Given the description of an element on the screen output the (x, y) to click on. 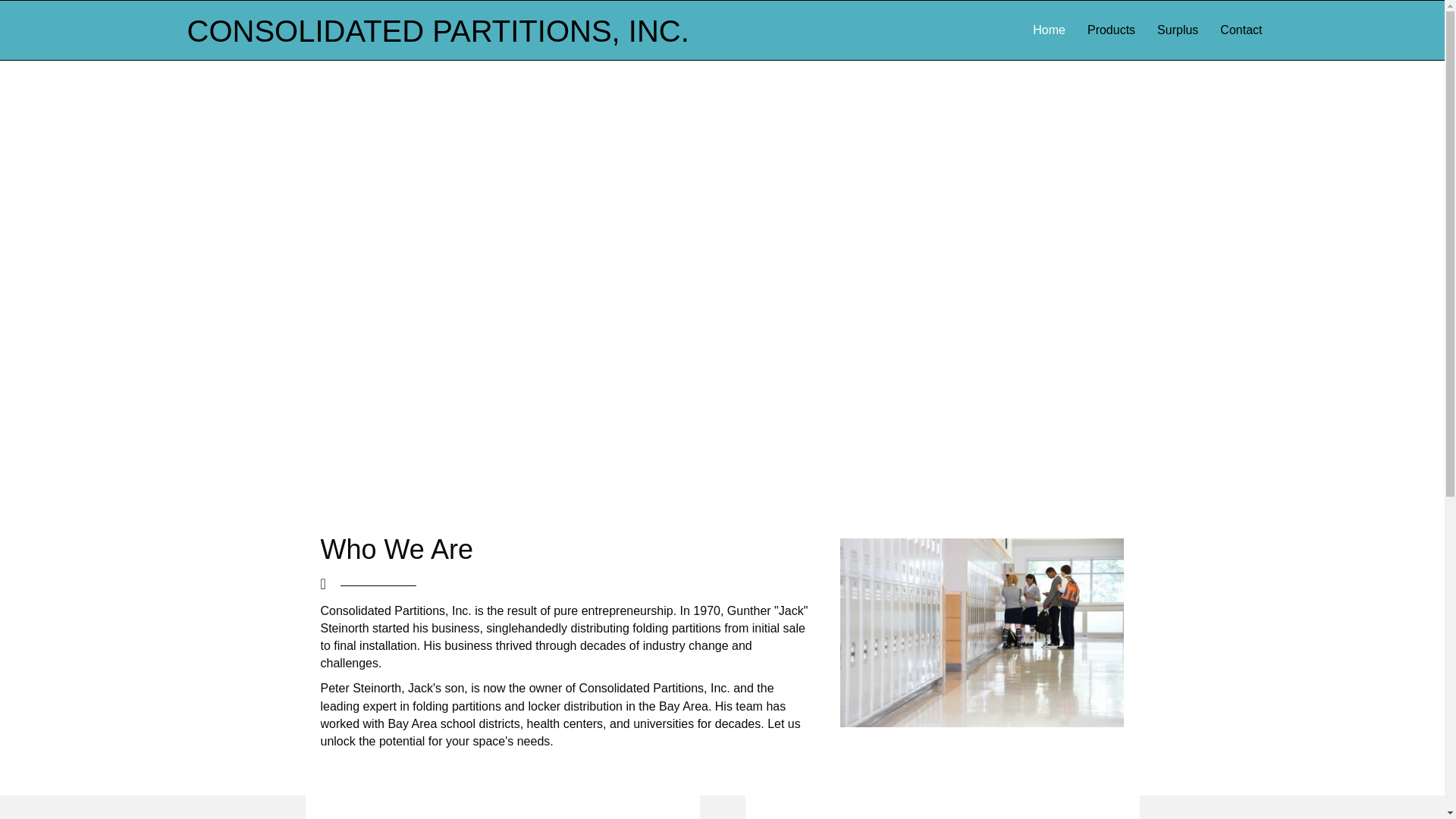
Products (1111, 29)
Consolidated Partitions, Inc. (437, 30)
Contact (1240, 29)
CONSOLIDATED PARTITIONS, INC. (437, 30)
Home (1048, 29)
Surplus (1177, 29)
